Given the description of an element on the screen output the (x, y) to click on. 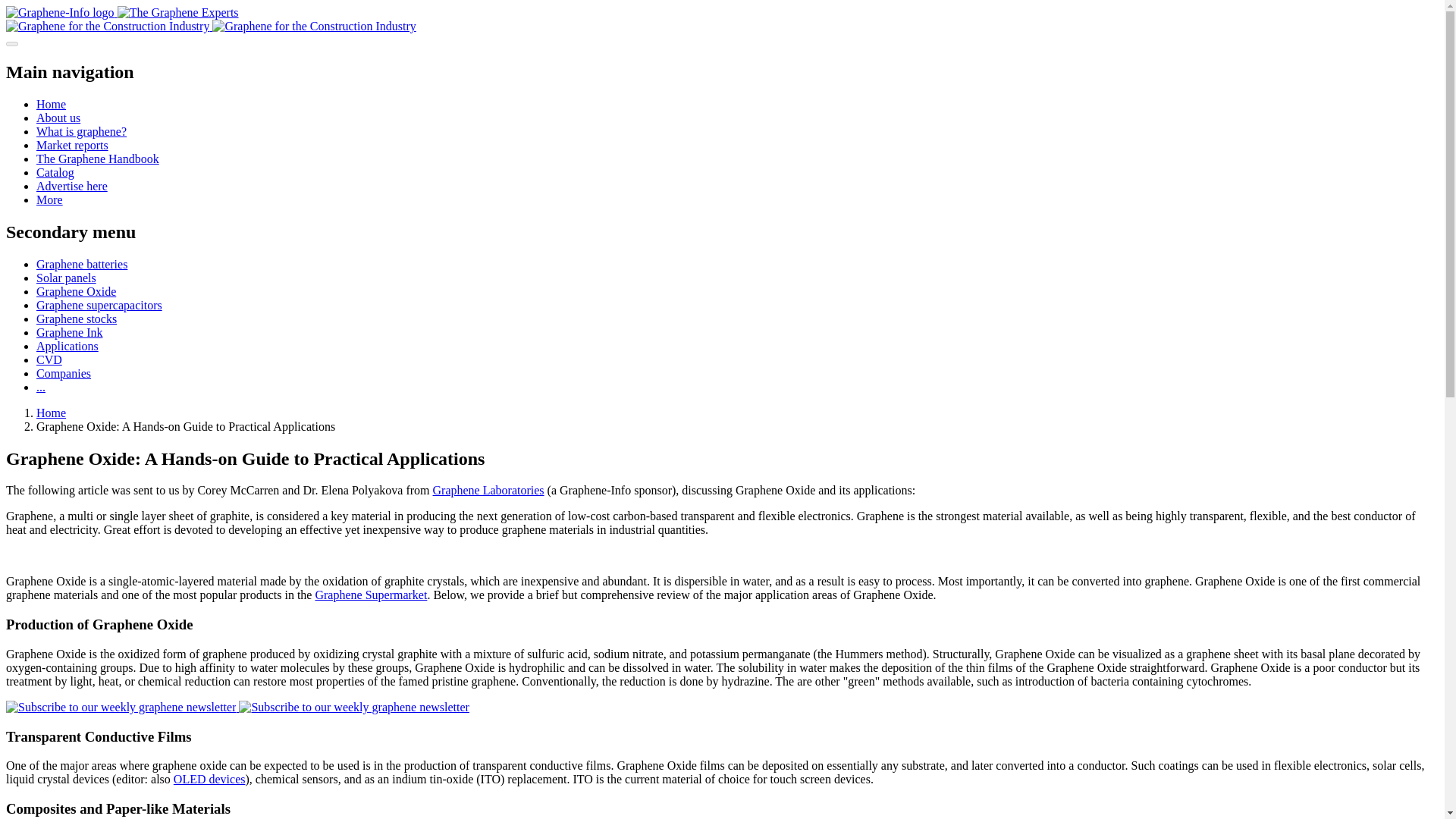
Graphene Laboratories (488, 490)
What is graphene? (81, 131)
Market reports (71, 144)
About us (58, 117)
The Graphene Handbook (97, 158)
... (40, 386)
Graphene supercapacitors (98, 305)
Graphene batteries (82, 264)
OLED devices (209, 779)
CVD (49, 359)
Home (50, 412)
Home (50, 103)
Graphene Ink (69, 332)
Graphene Oxide (76, 291)
Home (121, 11)
